Given the description of an element on the screen output the (x, y) to click on. 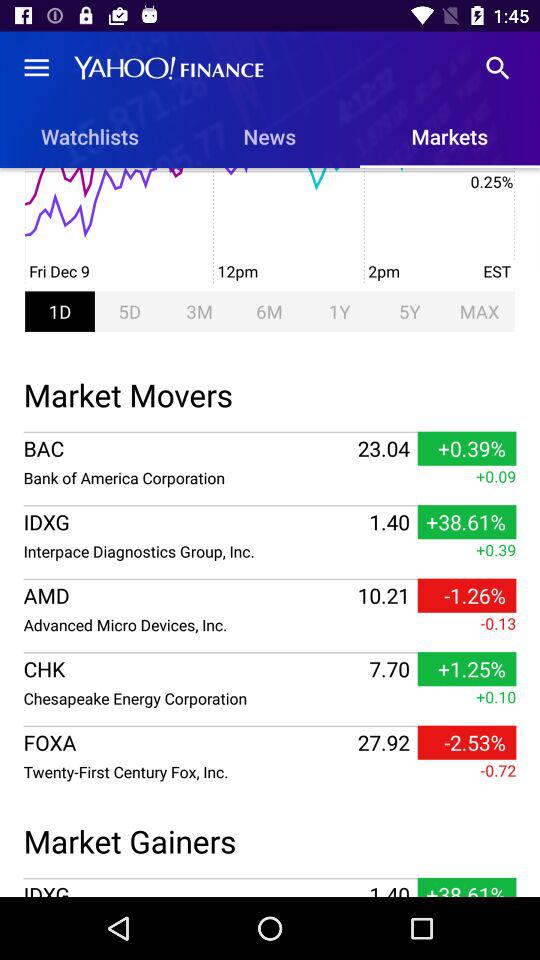
choose the item to the right of bac (383, 448)
